Given the description of an element on the screen output the (x, y) to click on. 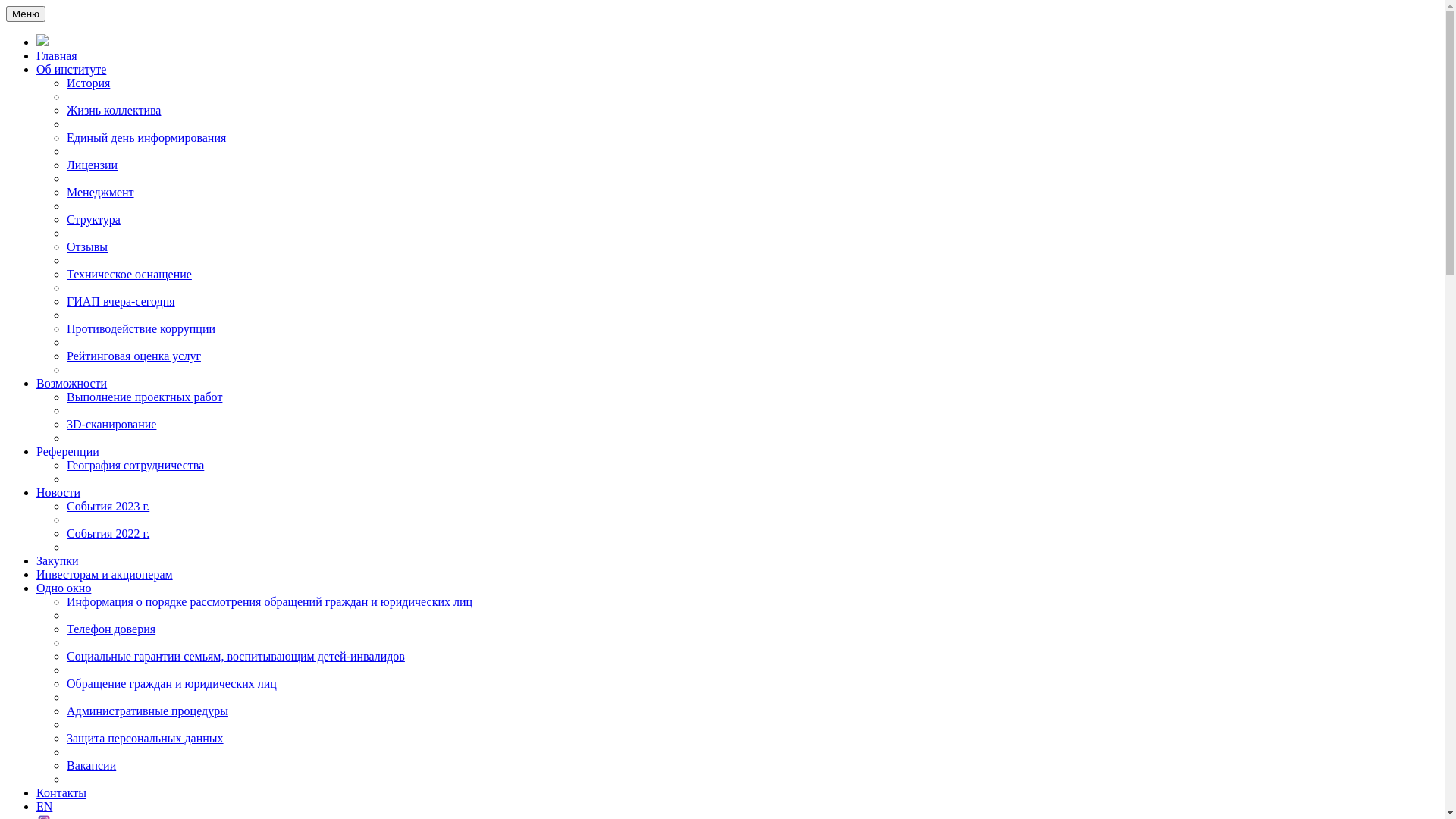
EN Element type: text (44, 806)
